Given the description of an element on the screen output the (x, y) to click on. 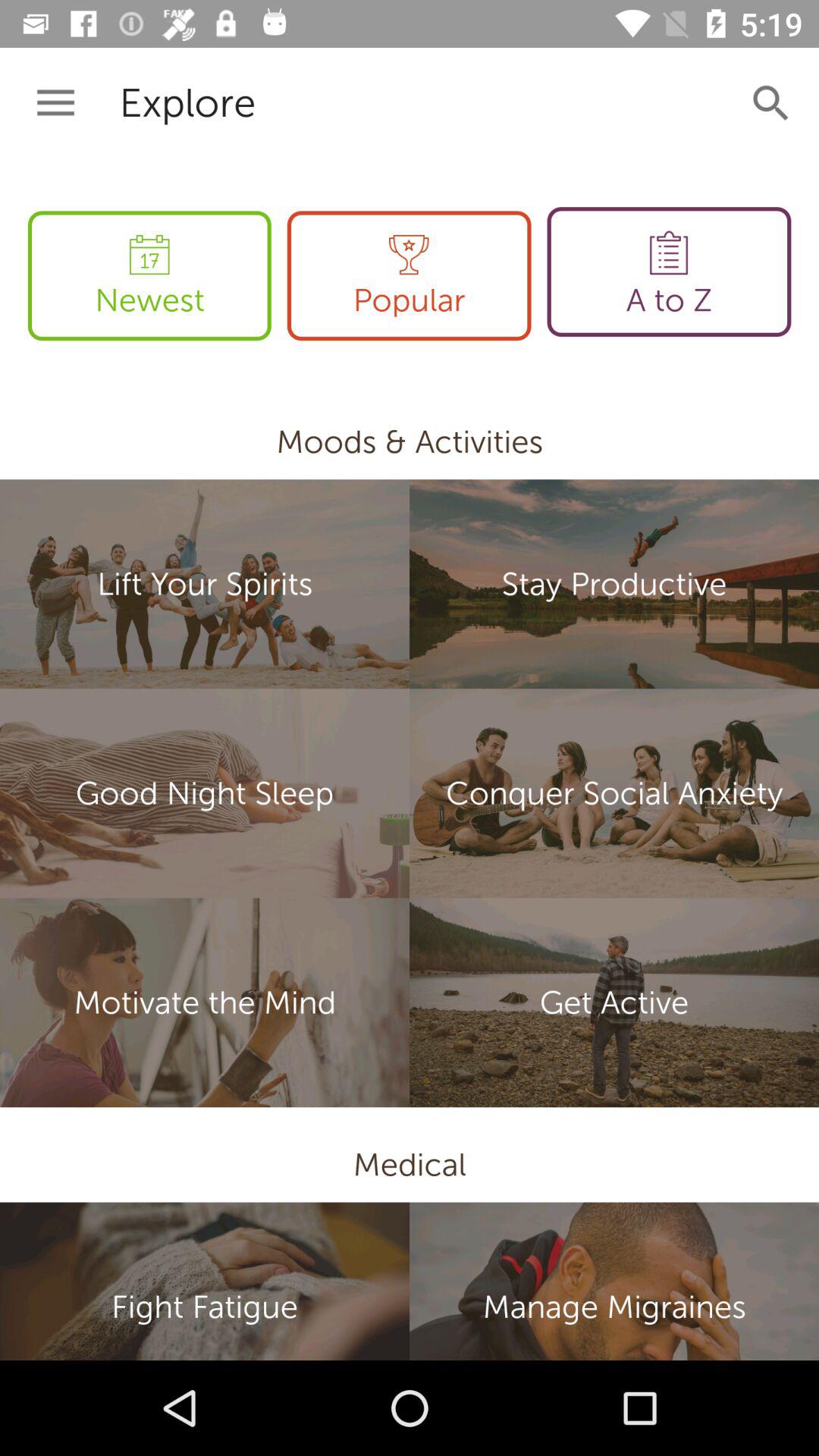
launch icon next to the explore app (55, 103)
